Given the description of an element on the screen output the (x, y) to click on. 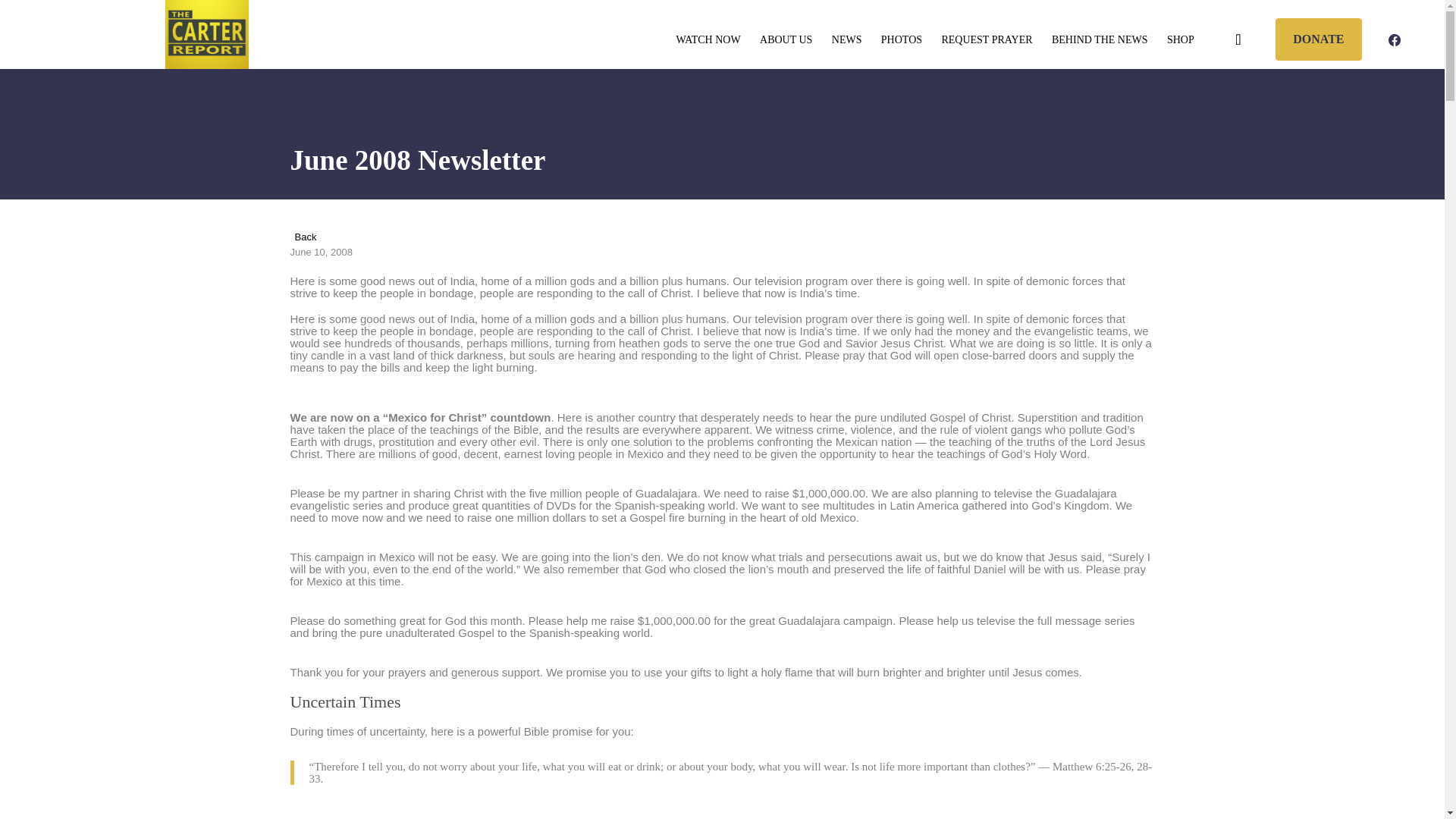
PHOTOS (901, 40)
SHOP (1180, 40)
REQUEST PRAYER (987, 40)
ABOUT US (786, 40)
The Carter Report (206, 34)
BEHIND THE NEWS (1099, 40)
WATCH NOW (708, 40)
Back (302, 236)
DONATE (1318, 38)
NEWS (846, 40)
